Given the description of an element on the screen output the (x, y) to click on. 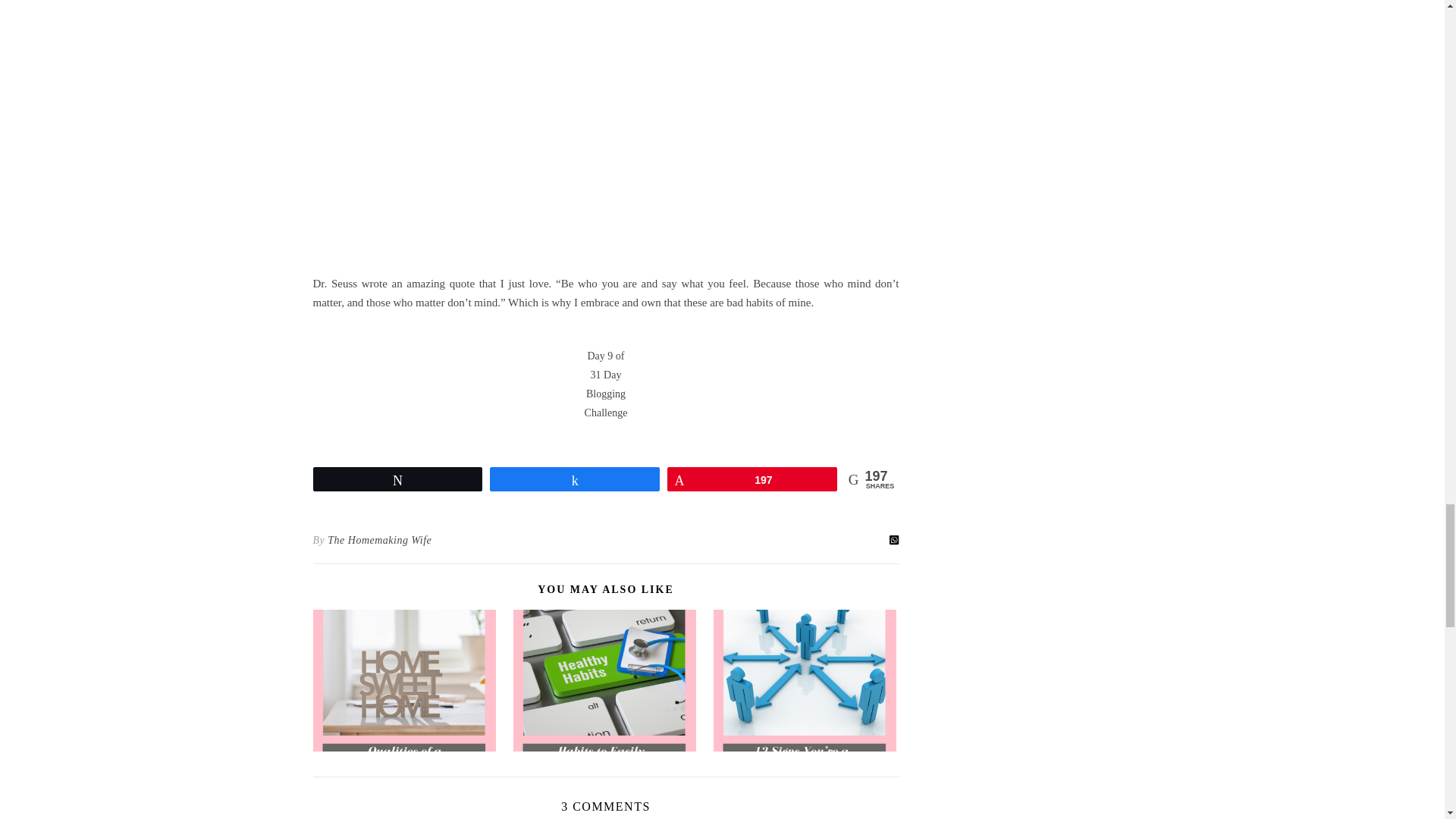
The Homemaking Wife (378, 540)
Posts by The Homemaking Wife (378, 540)
197 (751, 478)
